Given the description of an element on the screen output the (x, y) to click on. 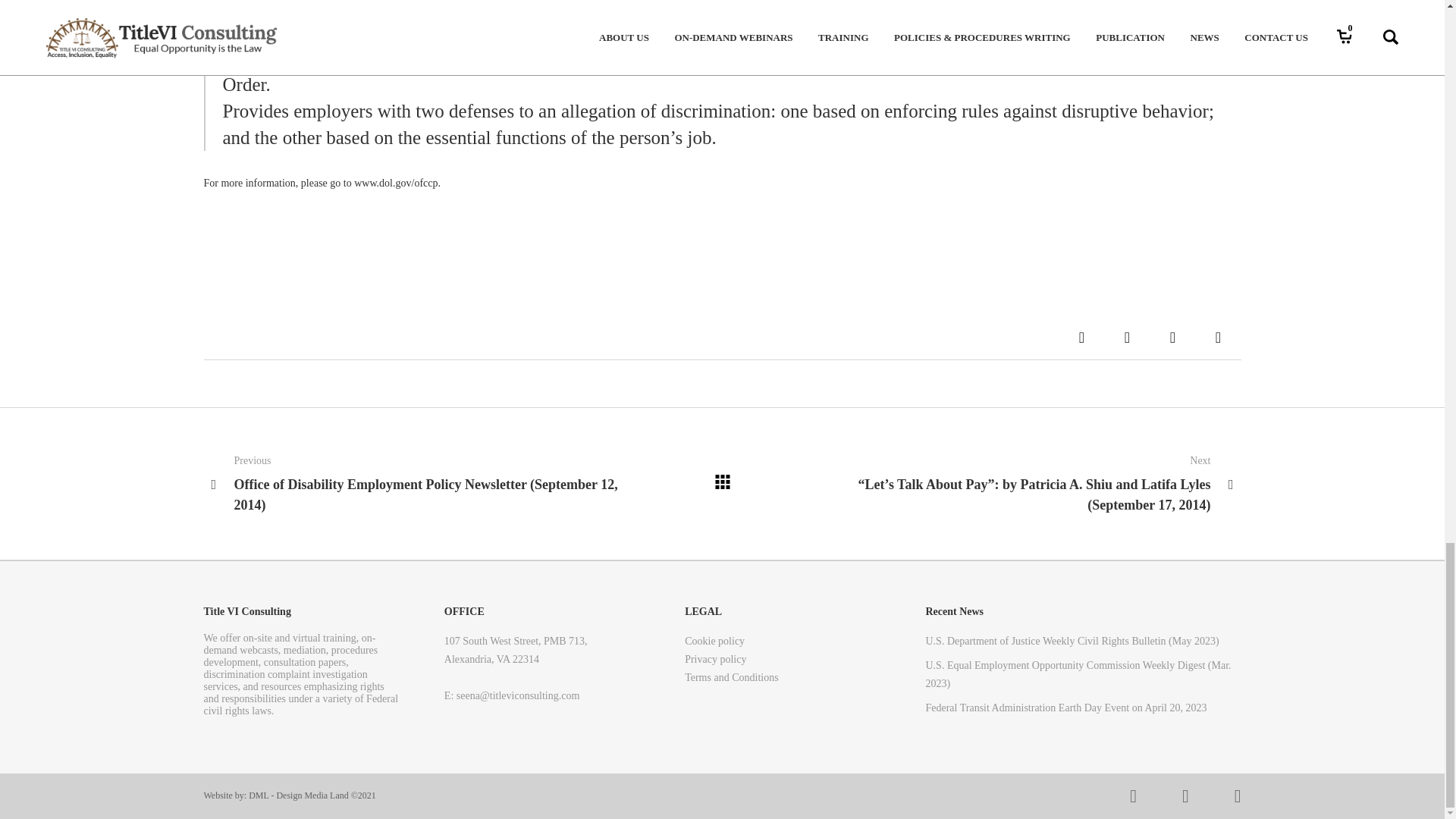
Cookie policy (714, 641)
Tweet this. (1126, 337)
Privacy policy (714, 659)
Pin this. (1172, 337)
Terms and Conditions (730, 677)
Share this. (1080, 337)
Share this. (1217, 337)
